Given the description of an element on the screen output the (x, y) to click on. 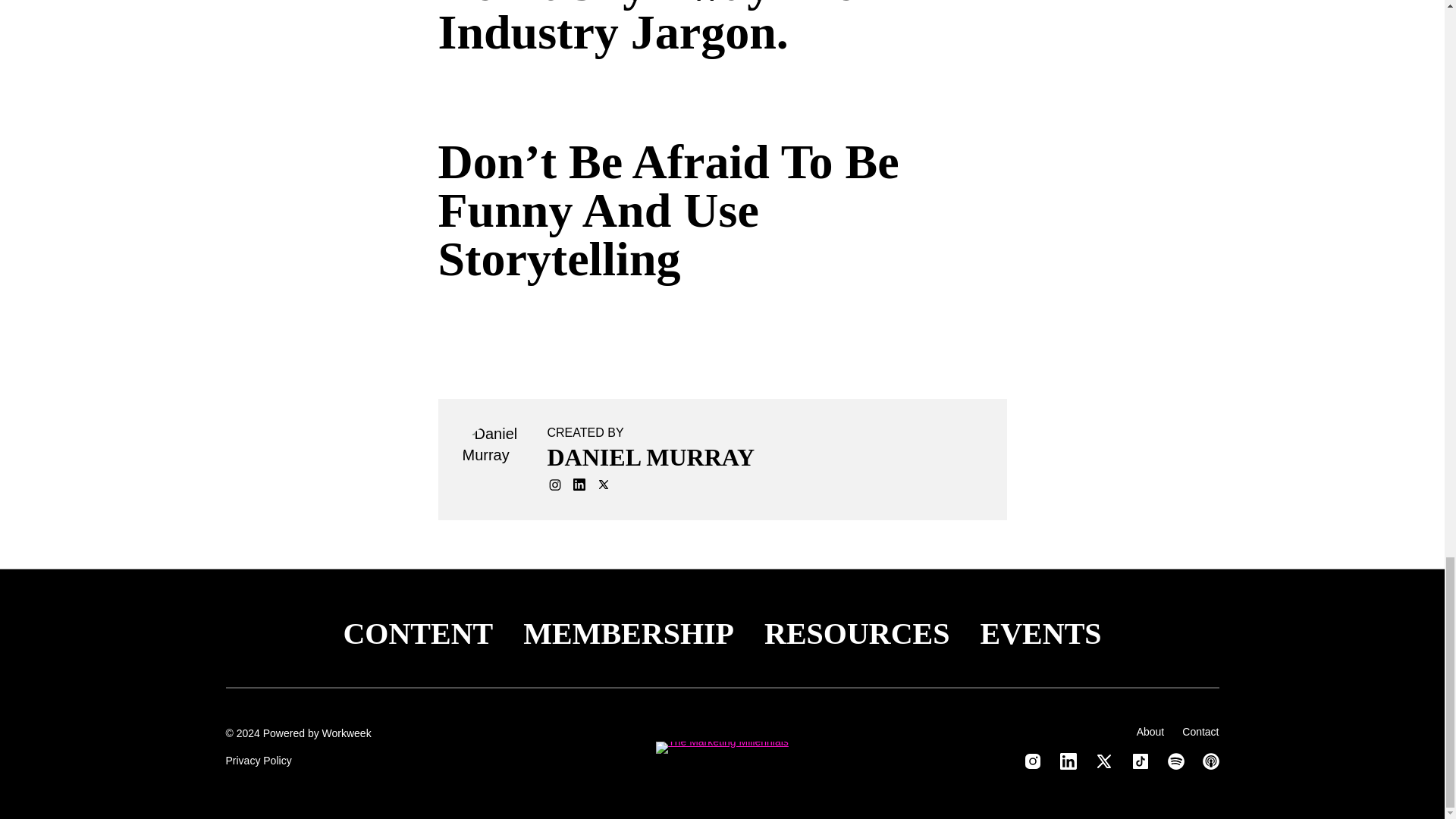
MEMBERSHIP (627, 633)
RESOURCES (857, 633)
CONTENT (417, 633)
About (1150, 731)
Contact (1200, 731)
Privacy Policy (258, 760)
EVENTS (1040, 633)
